Given the description of an element on the screen output the (x, y) to click on. 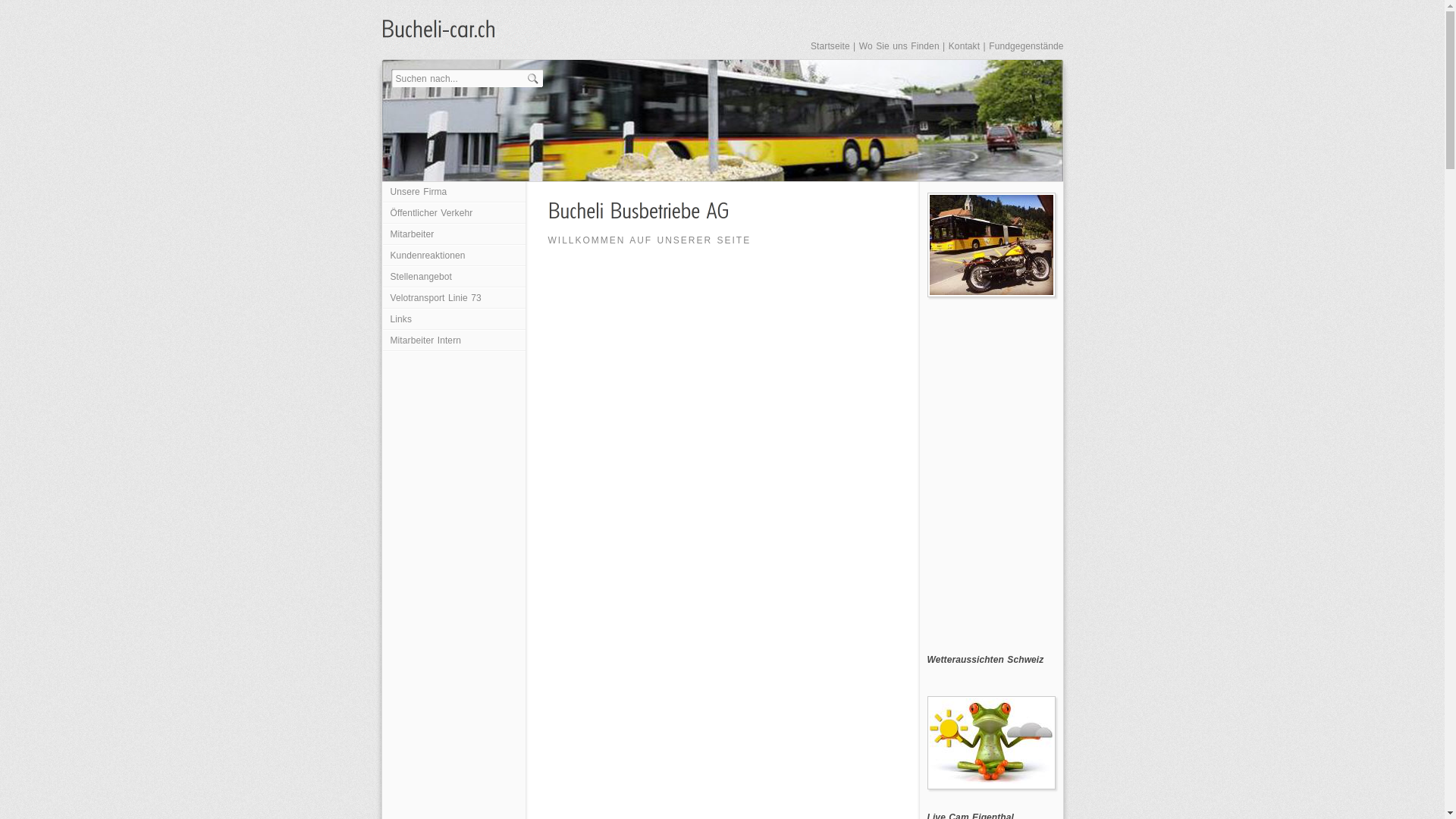
Velotransport Linie 73 Element type: text (453, 298)
Unsere Firma Element type: text (453, 192)
Kontakt Element type: text (963, 45)
Stellenangebot Element type: text (453, 277)
Links Element type: text (453, 319)
Kundenreaktionen Element type: text (453, 255)
Startseite Element type: text (830, 45)
Mitarbeiter Element type: text (453, 234)
Wo Sie uns Finden Element type: text (899, 45)
Mitarbeiter Intern Element type: text (453, 340)
